Given the description of an element on the screen output the (x, y) to click on. 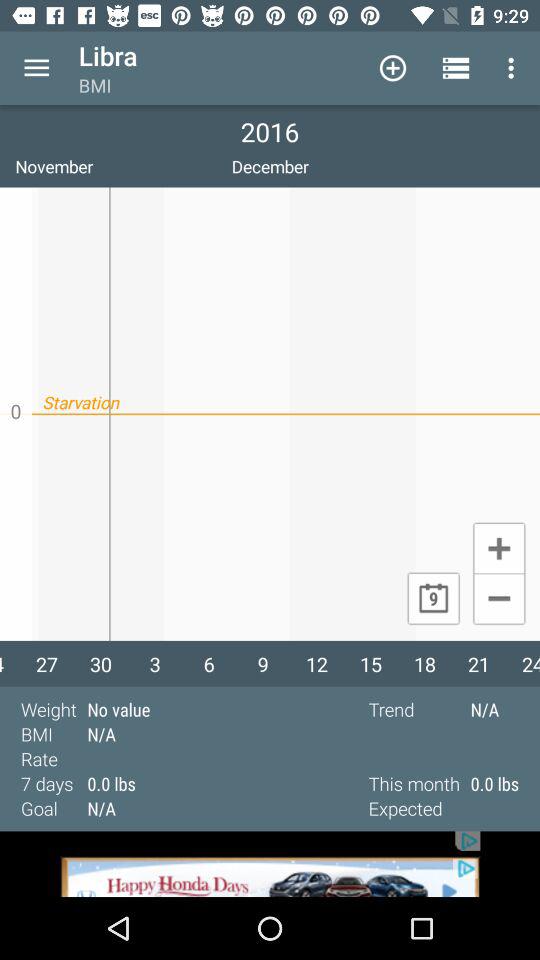
plus mark (498, 547)
